Given the description of an element on the screen output the (x, y) to click on. 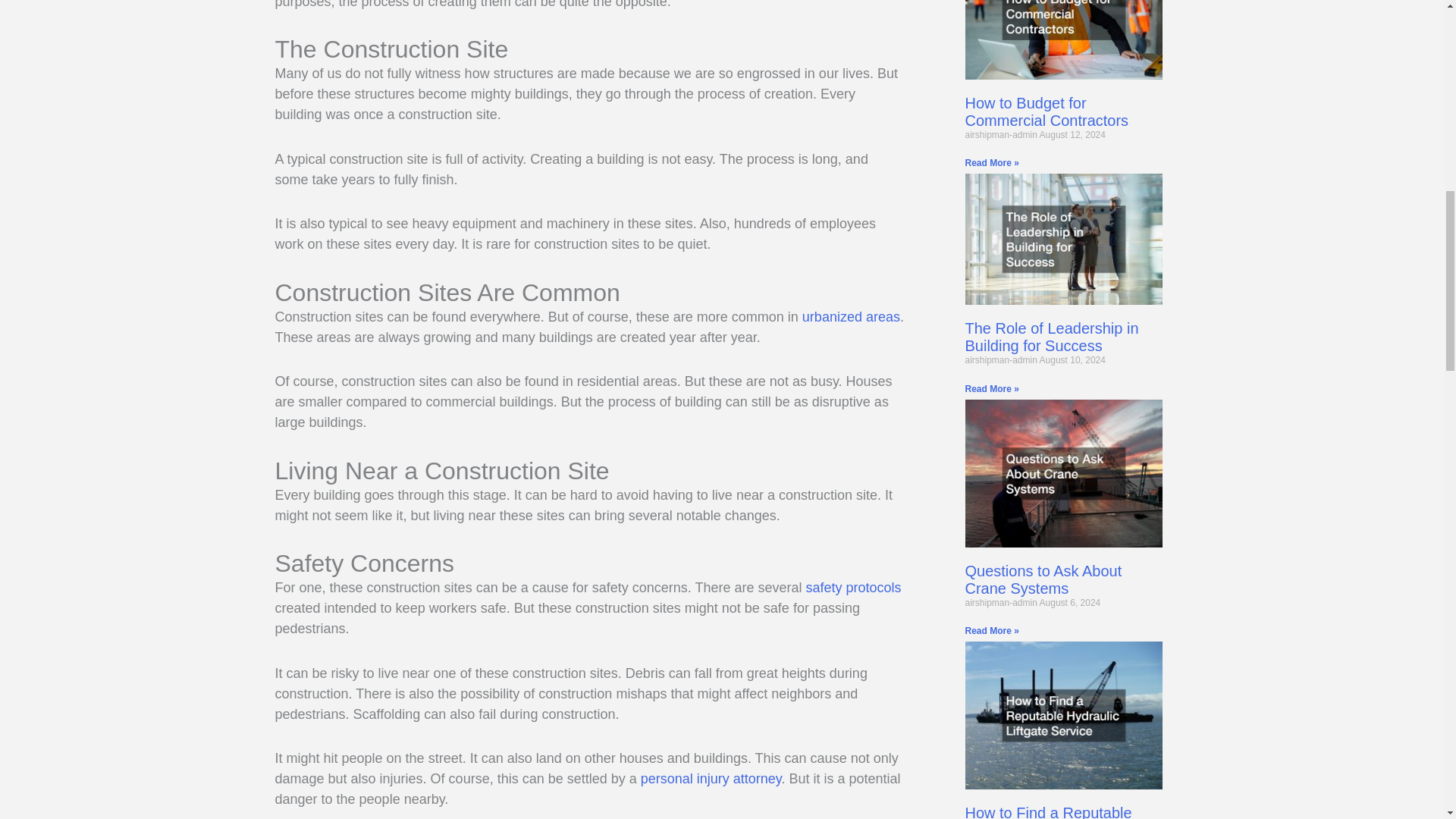
How to Budget for Commercial Contractors (1045, 111)
The Role of Leadership in Building for Success (1050, 336)
safety protocols (853, 587)
Questions to Ask About Crane Systems (1042, 579)
How to Find a Reputable Hydraulic Liftgate Service (1050, 811)
urbanized areas (850, 316)
personal injury attorney (710, 778)
